Given the description of an element on the screen output the (x, y) to click on. 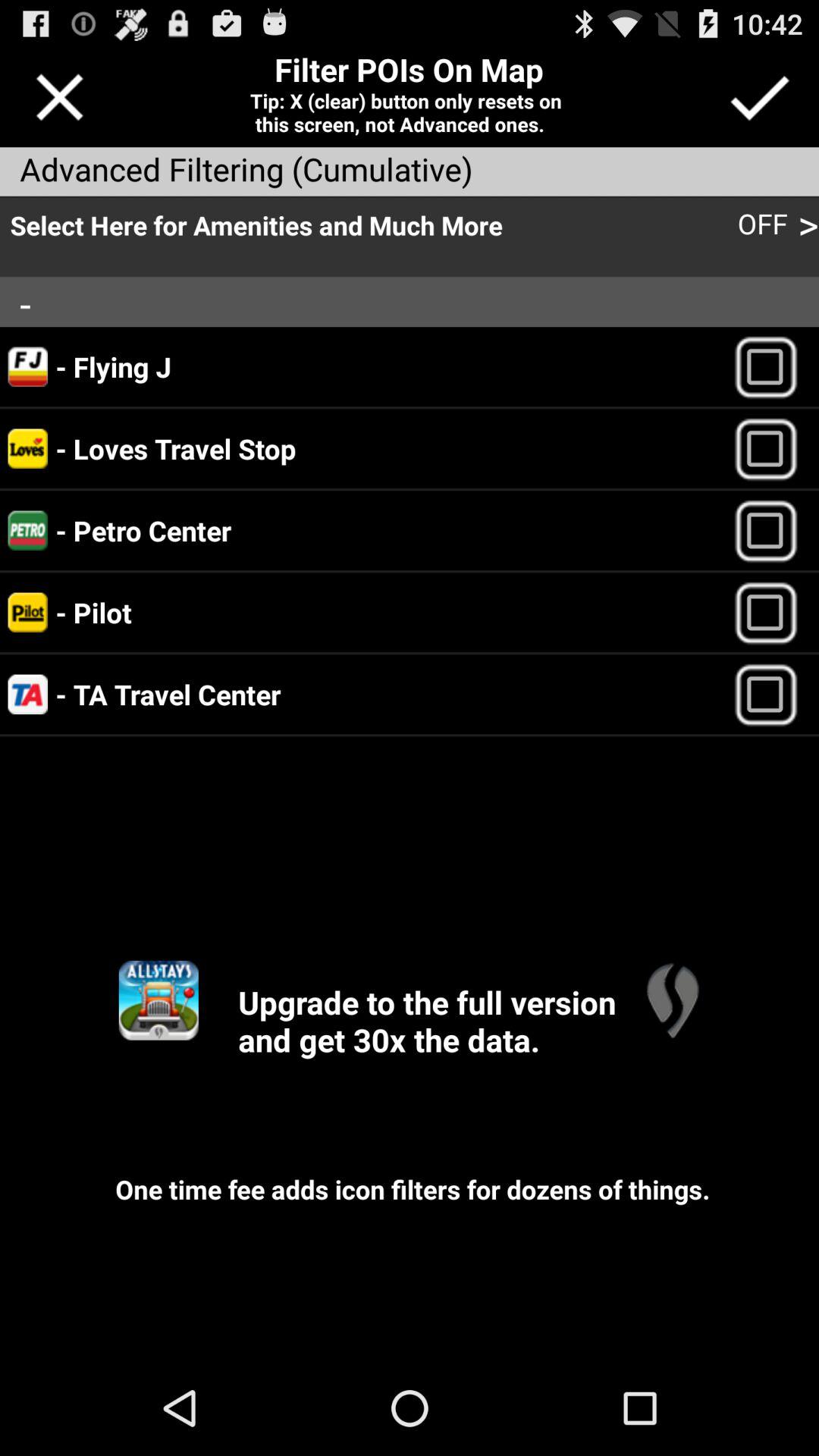
toggle location selection (772, 448)
